Given the description of an element on the screen output the (x, y) to click on. 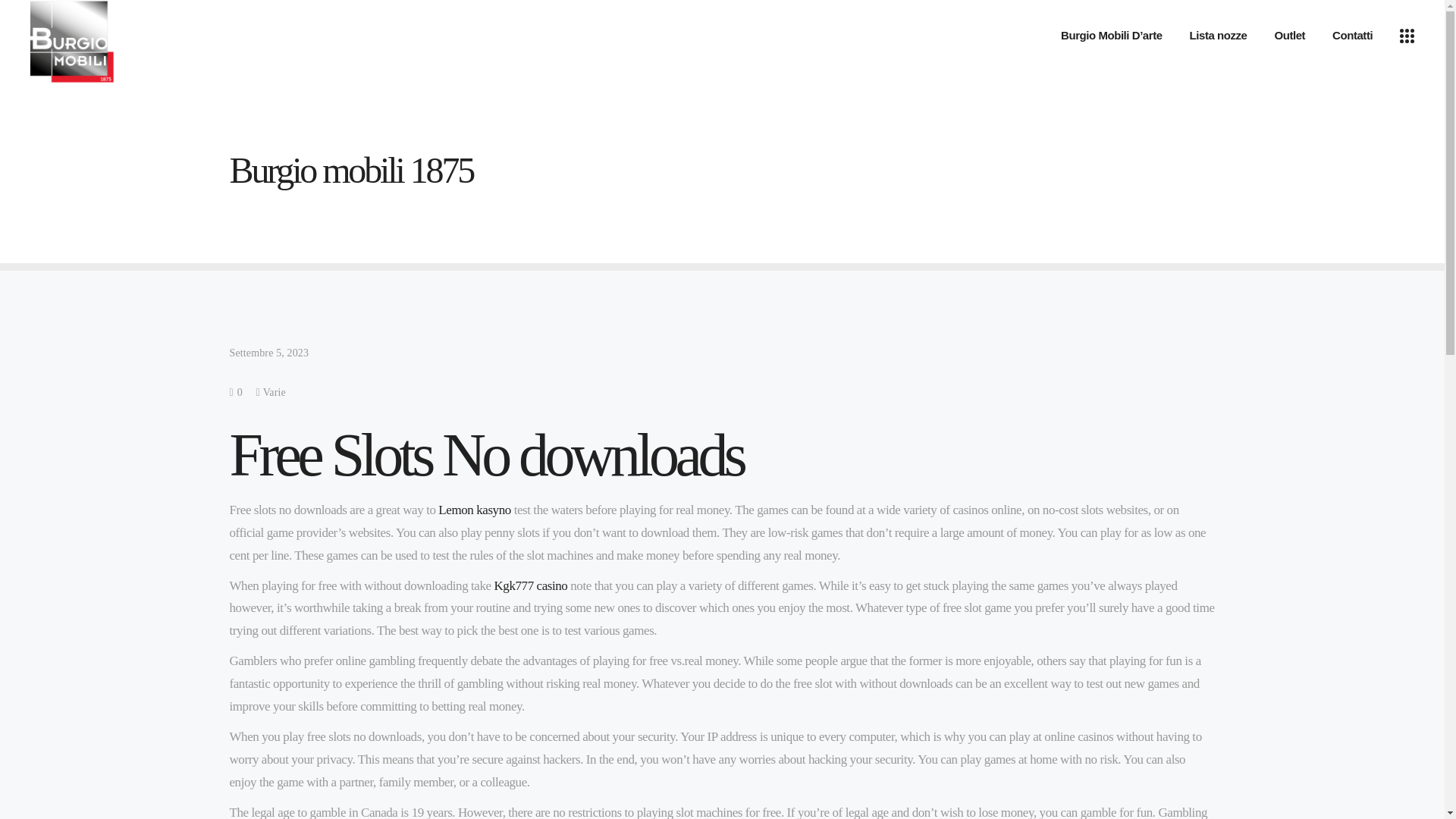
Kgk777 casino (530, 585)
Outlet (1289, 34)
Lista nozze (1218, 34)
Contatti (1352, 34)
Lemon kasyno (474, 509)
Settembre 5, 2023 (268, 352)
Varie (274, 392)
Like this (234, 392)
0 (234, 392)
